Given the description of an element on the screen output the (x, y) to click on. 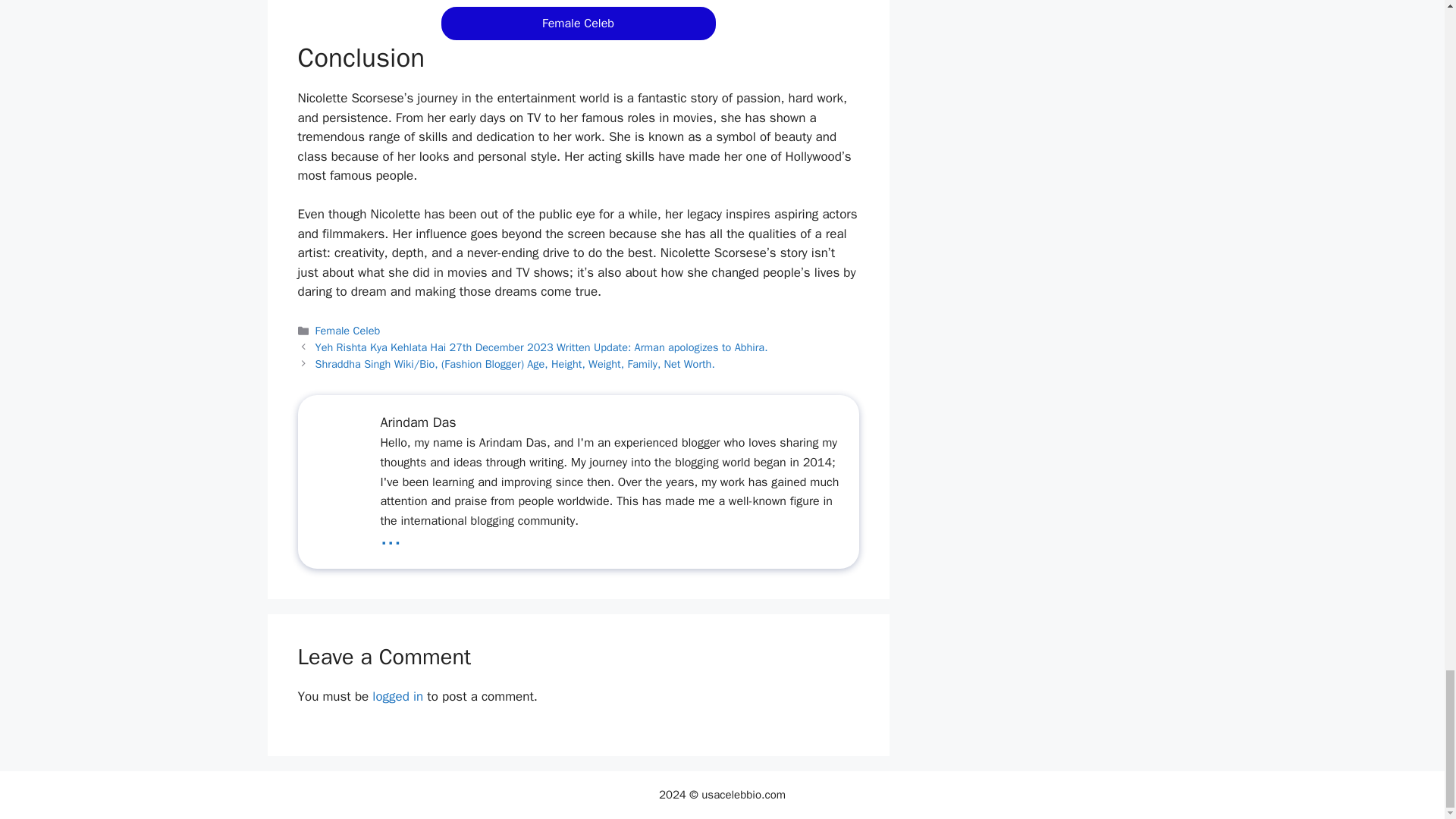
logged in (397, 696)
Female Celeb (578, 22)
Female Celeb (347, 330)
